Given the description of an element on the screen output the (x, y) to click on. 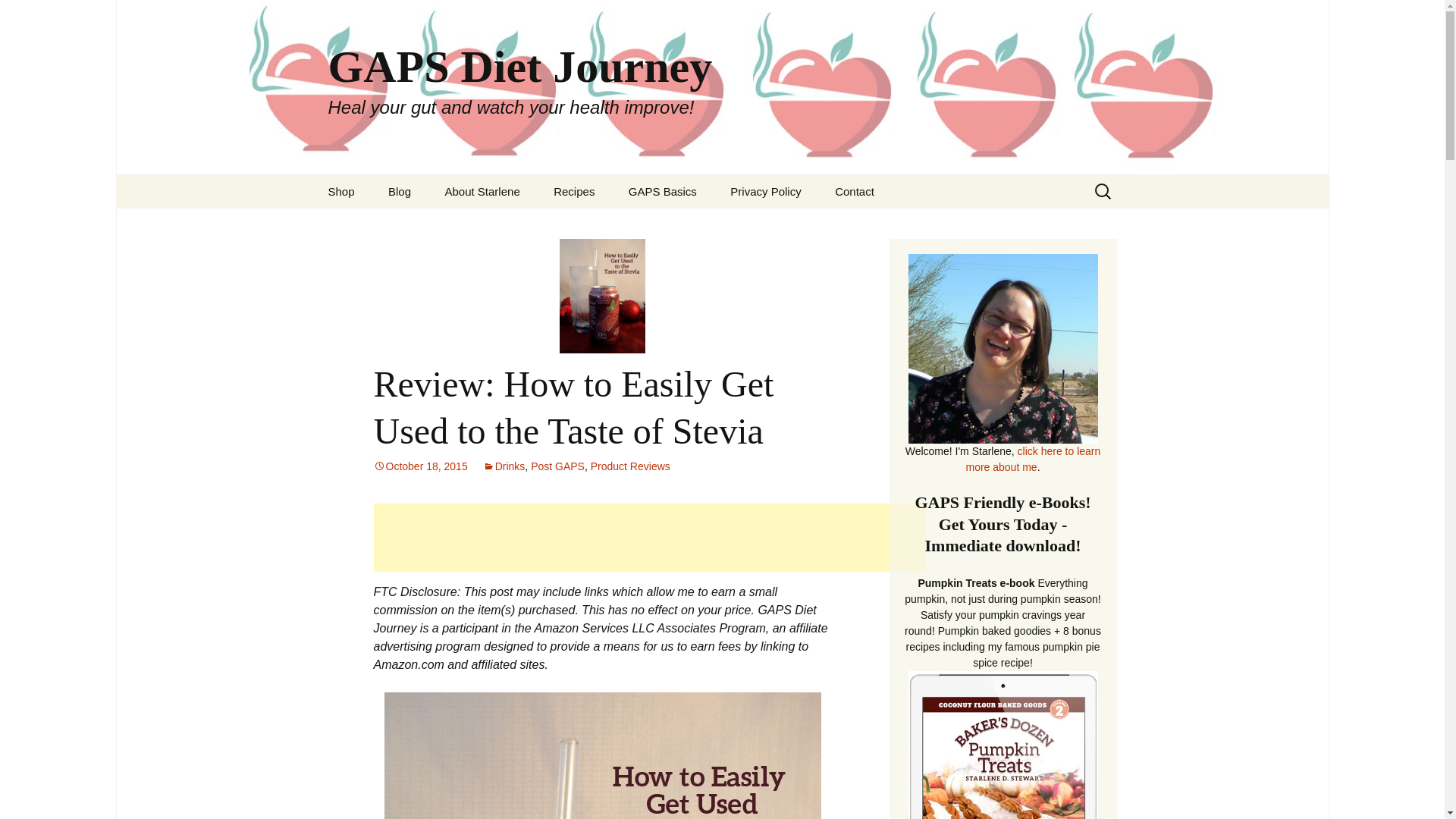
Post GAPS (558, 466)
Contact Me Here (854, 191)
GAPS Basics (661, 191)
Blog Posts and Recipes (399, 191)
Drinks (504, 466)
Blog (399, 191)
Review our Privacy Policy (764, 191)
October 18, 2015 (419, 466)
Product Reviews (630, 466)
Shop (341, 191)
Contact (854, 191)
Shop for my GAPS-Friendly e-Books (341, 191)
Get Started with GAPS (661, 191)
Learn More About My Journey (481, 191)
